Given the description of an element on the screen output the (x, y) to click on. 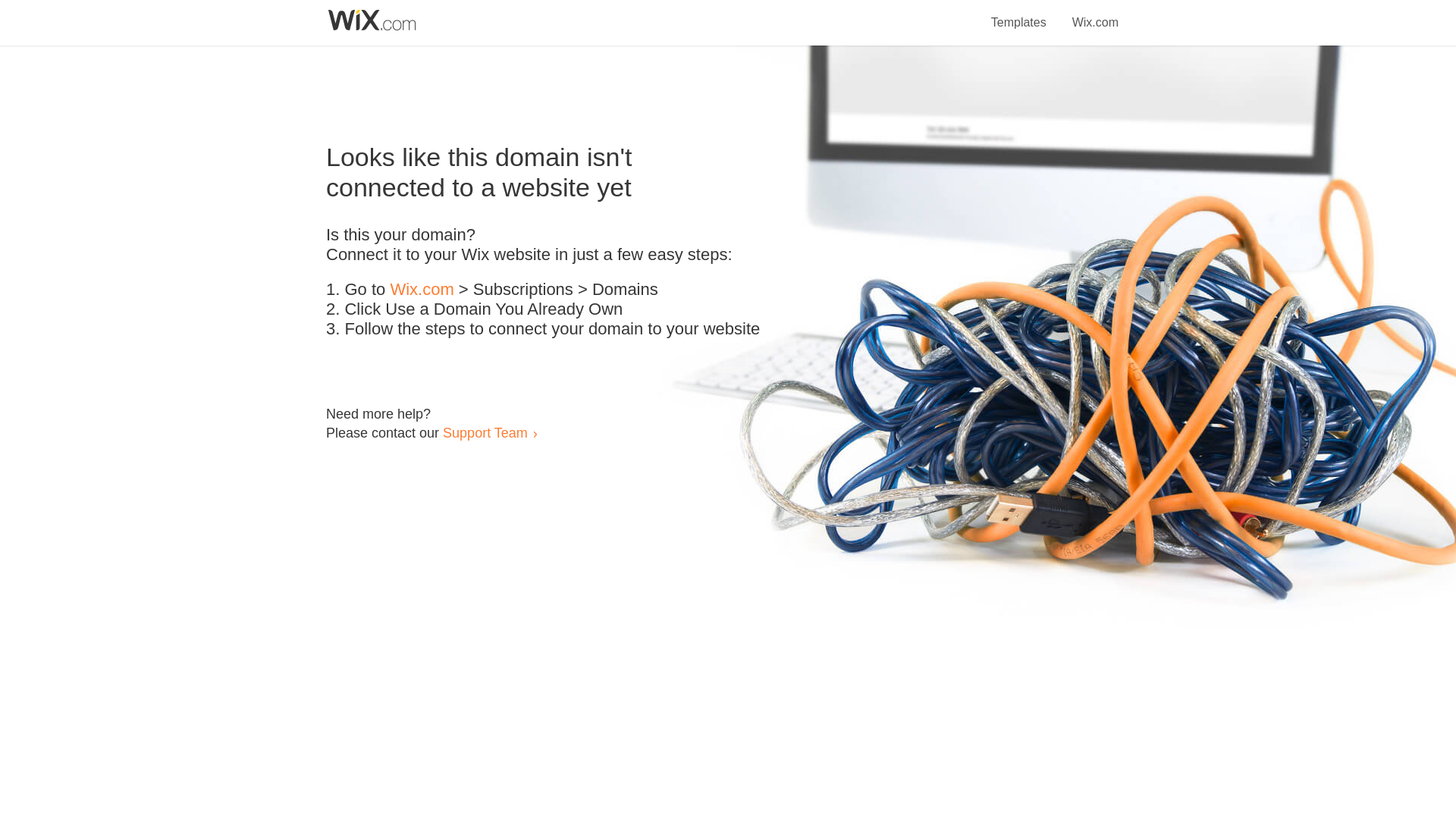
Wix.com (1095, 14)
Wix.com (421, 289)
Templates (1018, 14)
Support Team (484, 432)
